Given the description of an element on the screen output the (x, y) to click on. 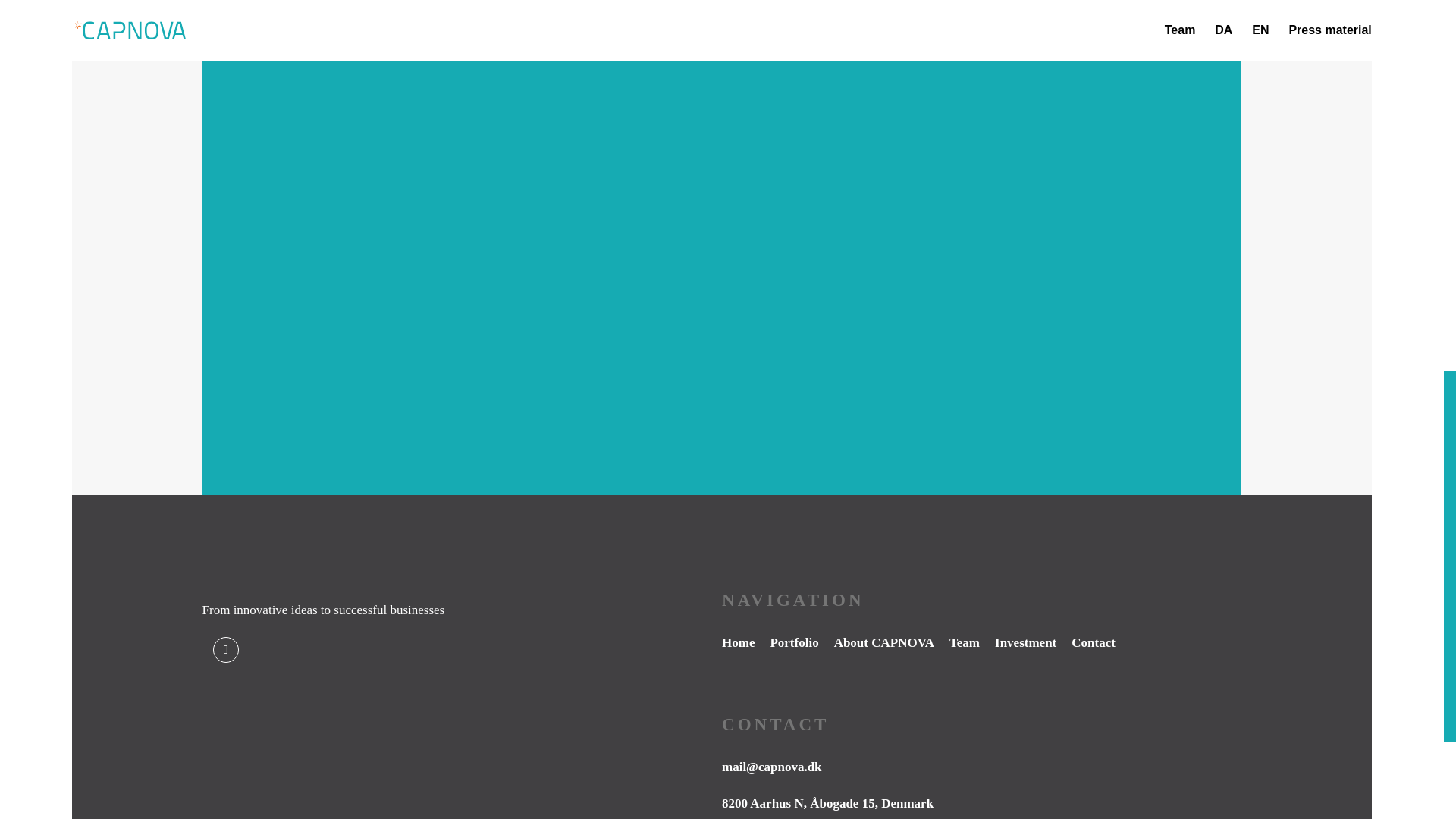
About CAPNOVA (884, 642)
Follow on LinkedIn (225, 649)
Home (738, 642)
Portfolio (794, 642)
Investment (1025, 642)
Team (964, 642)
Contact (1093, 642)
